Given the description of an element on the screen output the (x, y) to click on. 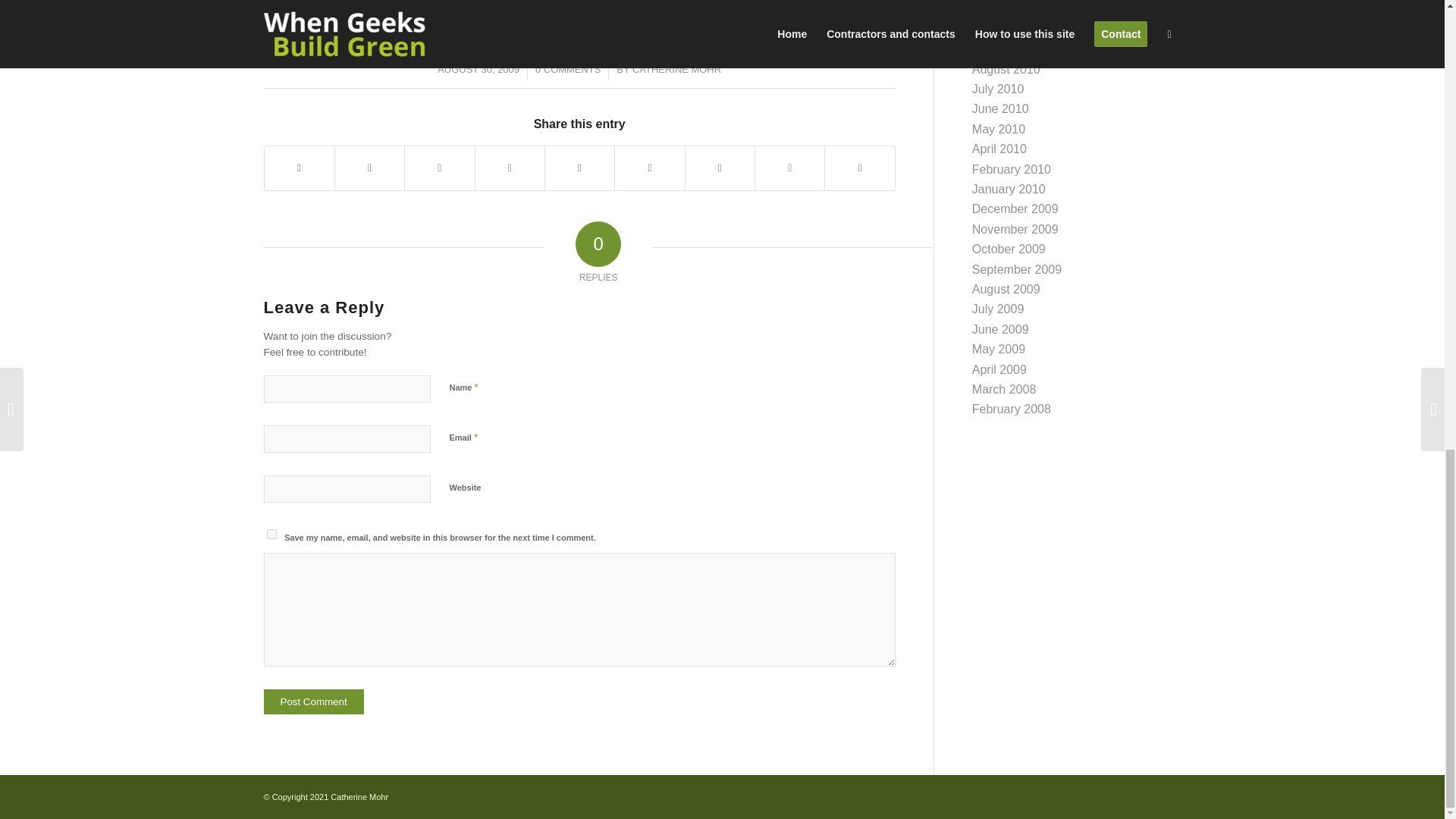
Post Comment (313, 701)
CATHERINE MOHR (675, 69)
0 COMMENTS (567, 69)
Posts by Catherine Mohr (675, 69)
yes (271, 533)
Post Comment (313, 701)
